Given the description of an element on the screen output the (x, y) to click on. 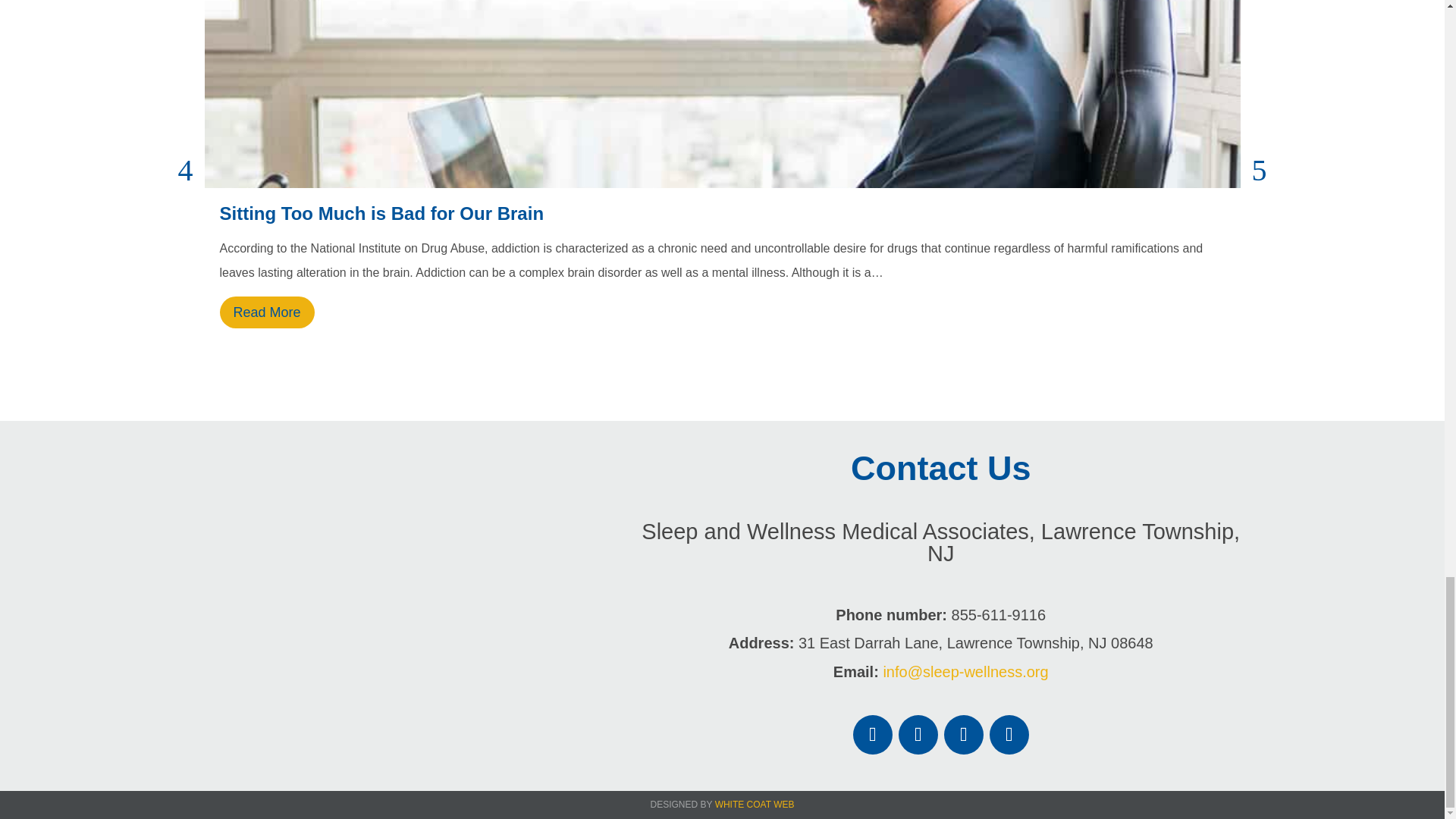
Follow on Yelp (1009, 734)
Sitting Too Much is Bad for Our Brain (381, 213)
Follow on Facebook (872, 734)
Follow on Instagram (917, 734)
Follow on Youtube (963, 734)
